Given the description of an element on the screen output the (x, y) to click on. 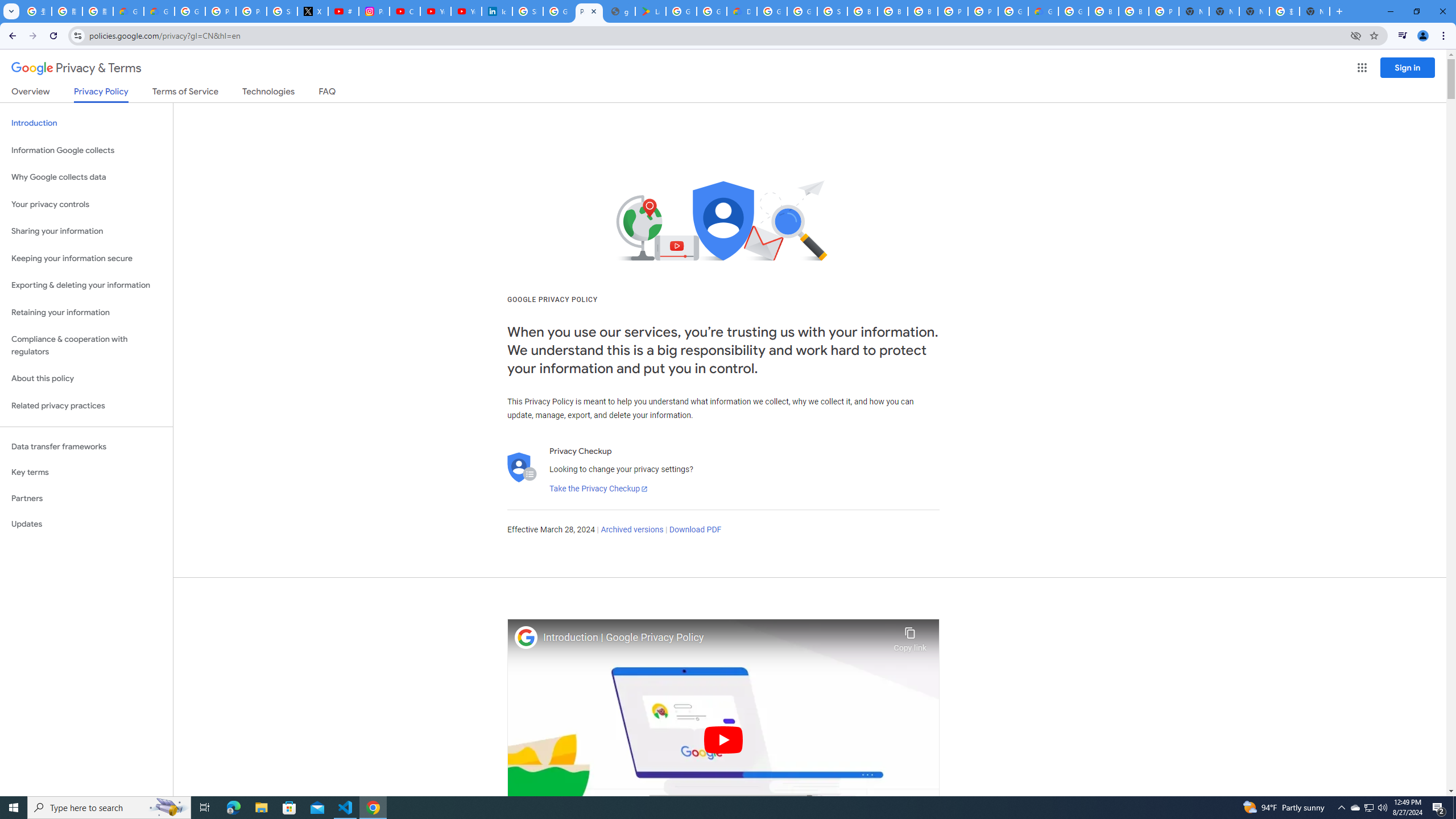
Why Google collects data (86, 176)
Browse Chrome as a guest - Computer - Google Chrome Help (892, 11)
Google Workspace - Specific Terms (711, 11)
Related privacy practices (86, 405)
Keeping your information secure (86, 258)
Compliance & cooperation with regulators (86, 345)
Last Shelter: Survival - Apps on Google Play (650, 11)
